Given the description of an element on the screen output the (x, y) to click on. 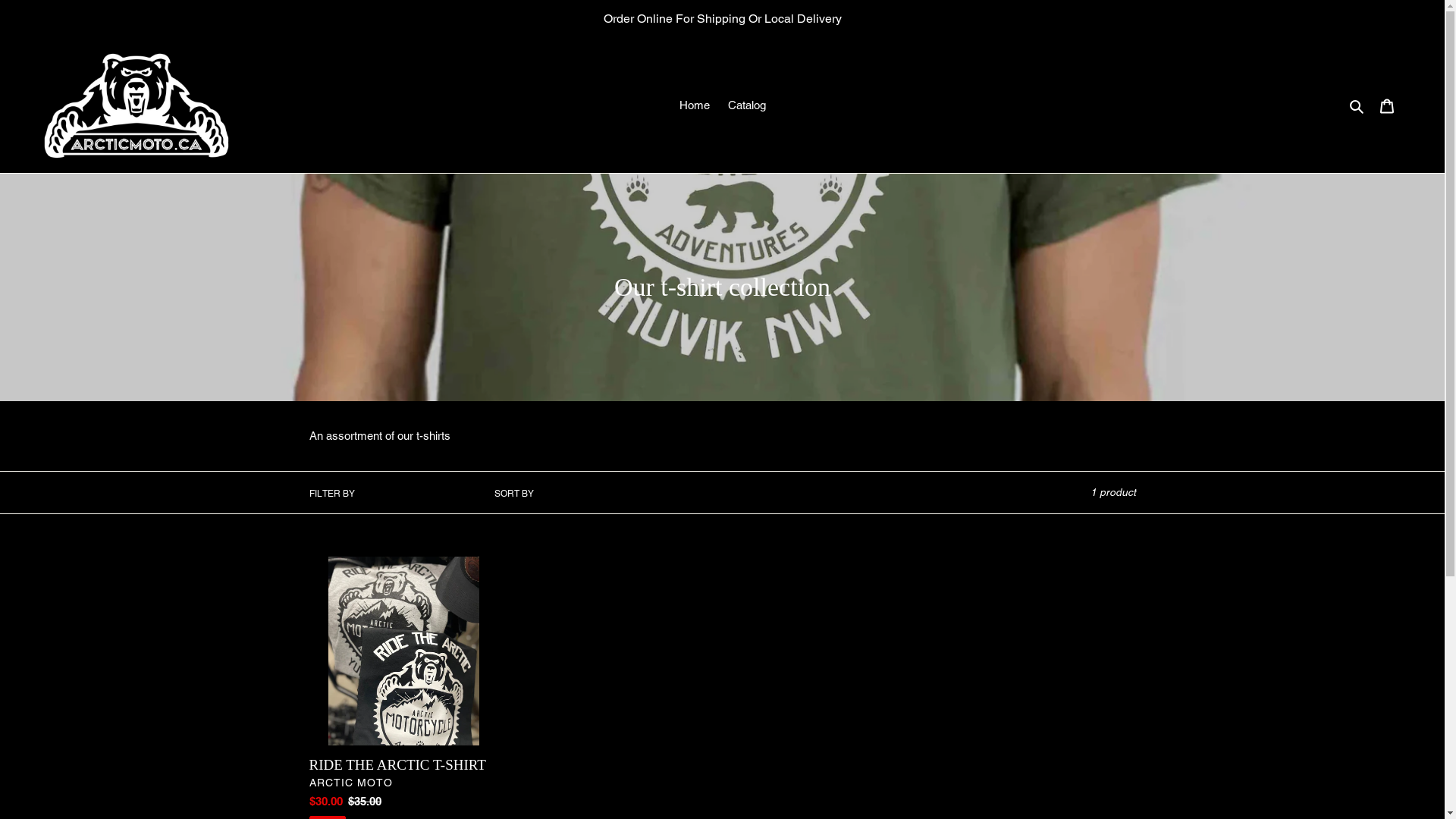
Search Element type: text (1357, 105)
Home Element type: text (694, 105)
Cart Element type: text (1386, 105)
Catalog Element type: text (746, 105)
